Given the description of an element on the screen output the (x, y) to click on. 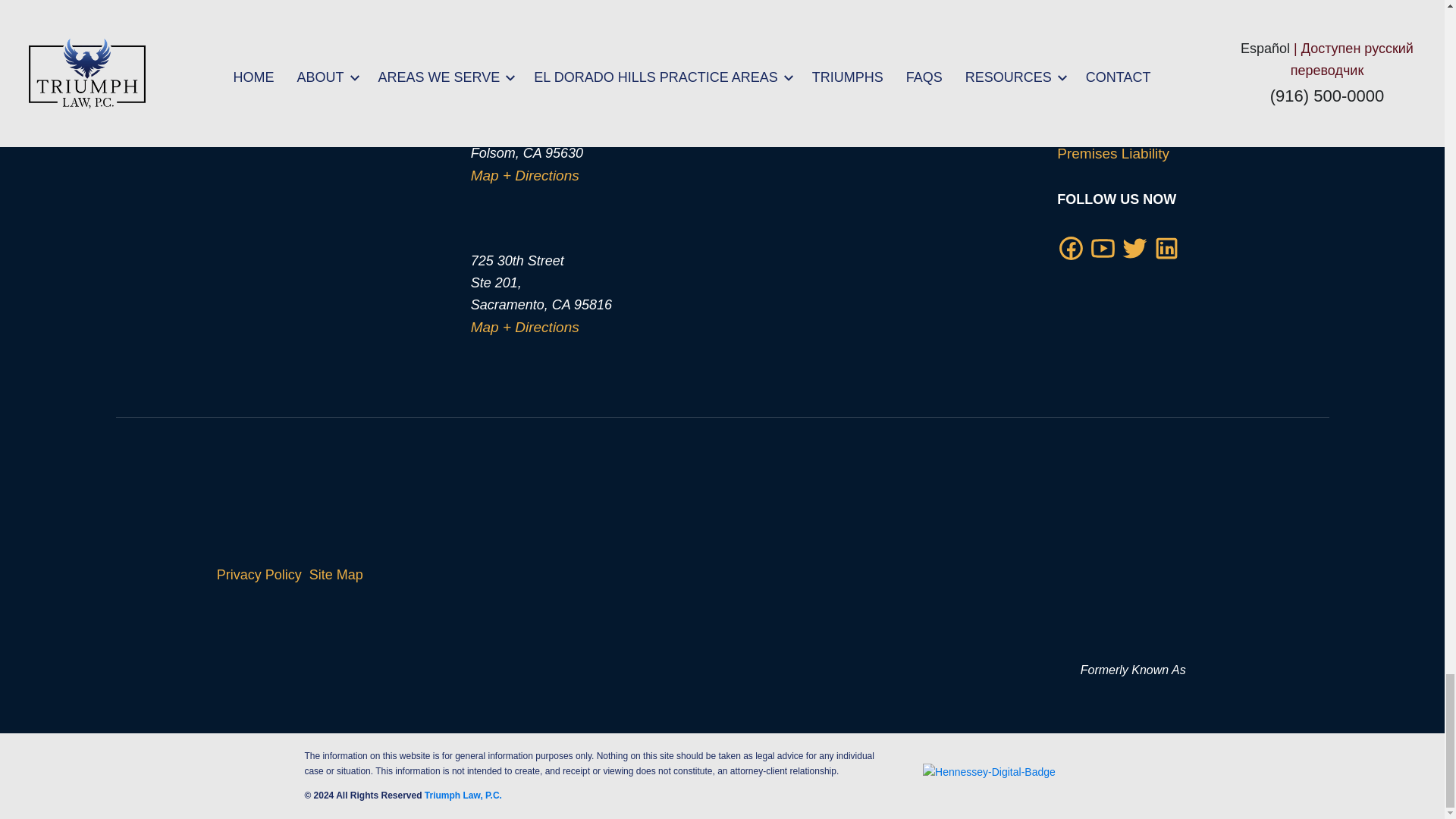
Site Map (335, 575)
Privacy Policy (258, 575)
Triumph Law, P.C. in Folsom (351, 128)
Triumph Law, P.C. in Sacramento (351, 303)
BBB Seal Award (699, 575)
Triumph Law, P.C. (1132, 565)
